Given the description of an element on the screen output the (x, y) to click on. 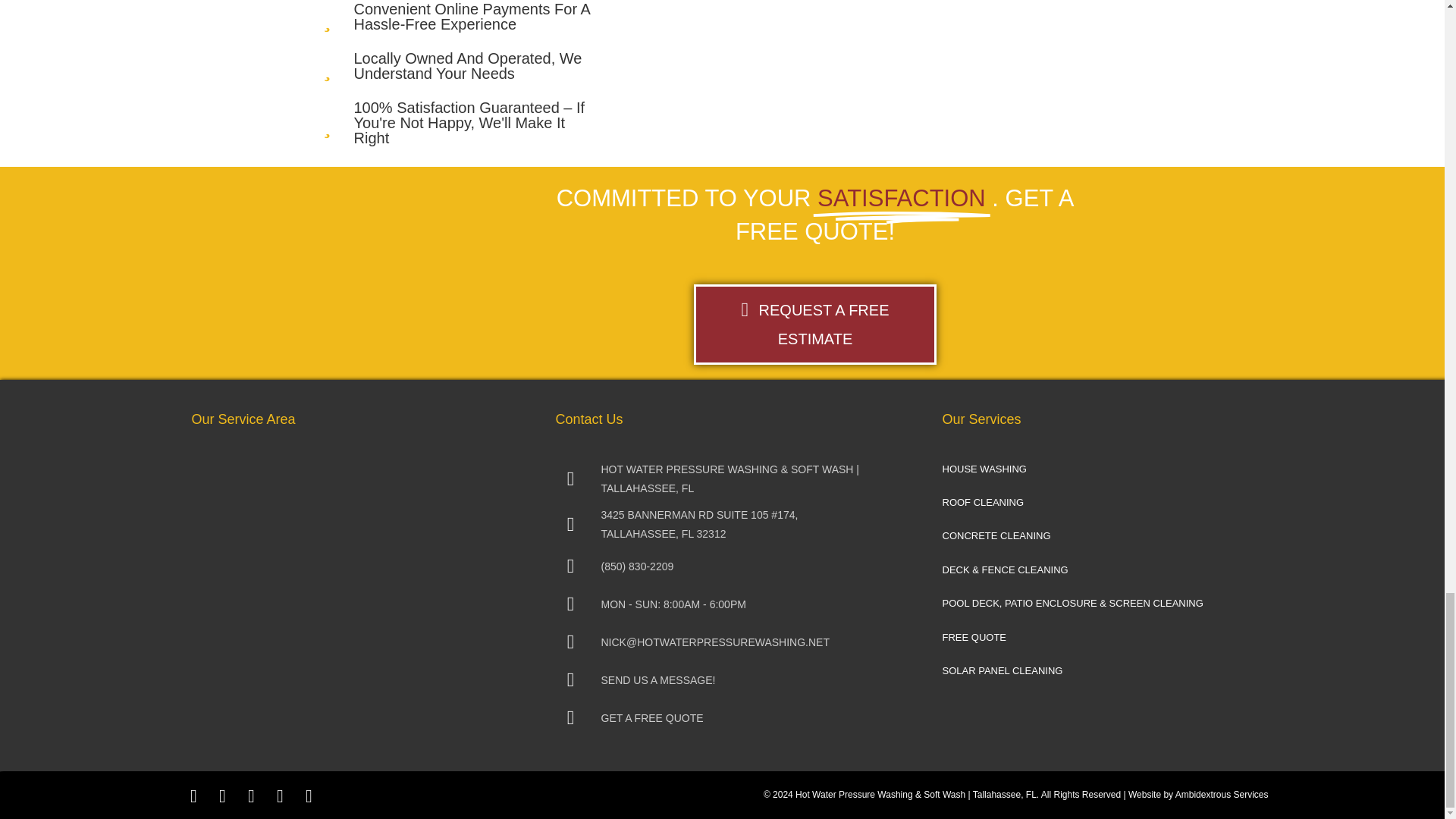
SEND US A MESSAGE! (721, 680)
Hot Water Pressure Washing Tallahassee, FL (443, 272)
HOUSE WASHING (1097, 476)
REQUEST A FREE ESTIMATE (815, 324)
GET A FREE QUOTE (721, 717)
